Given the description of an element on the screen output the (x, y) to click on. 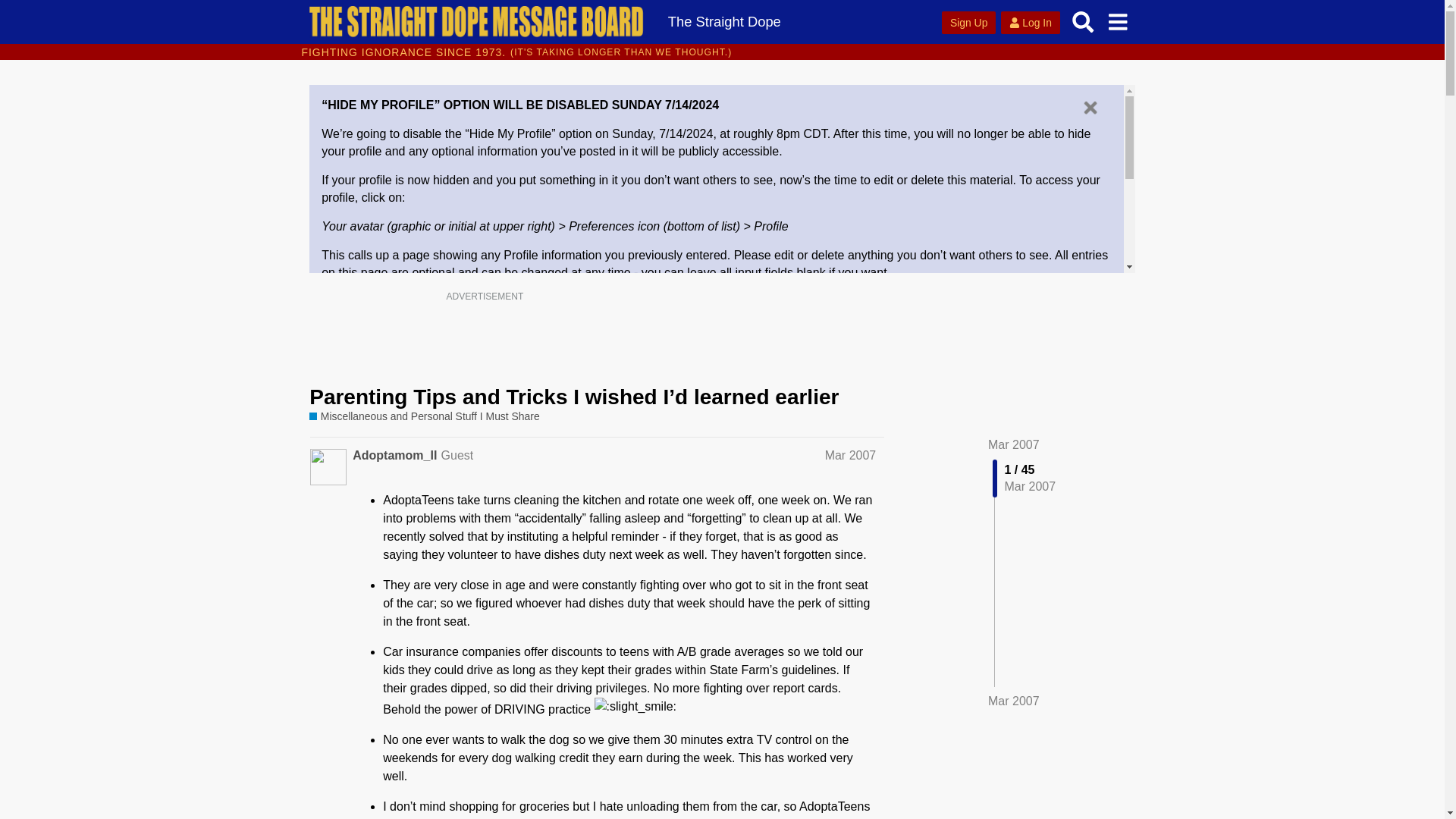
Log In (1030, 22)
We plan to disable "Hide my profile" option (476, 339)
Dismiss this banner (1090, 107)
Jump to the first post (1013, 444)
menu (1117, 21)
Mar 2007 (850, 454)
Sign Up (968, 22)
The Straight Dope (724, 22)
The Straight Dope (724, 22)
